Given the description of an element on the screen output the (x, y) to click on. 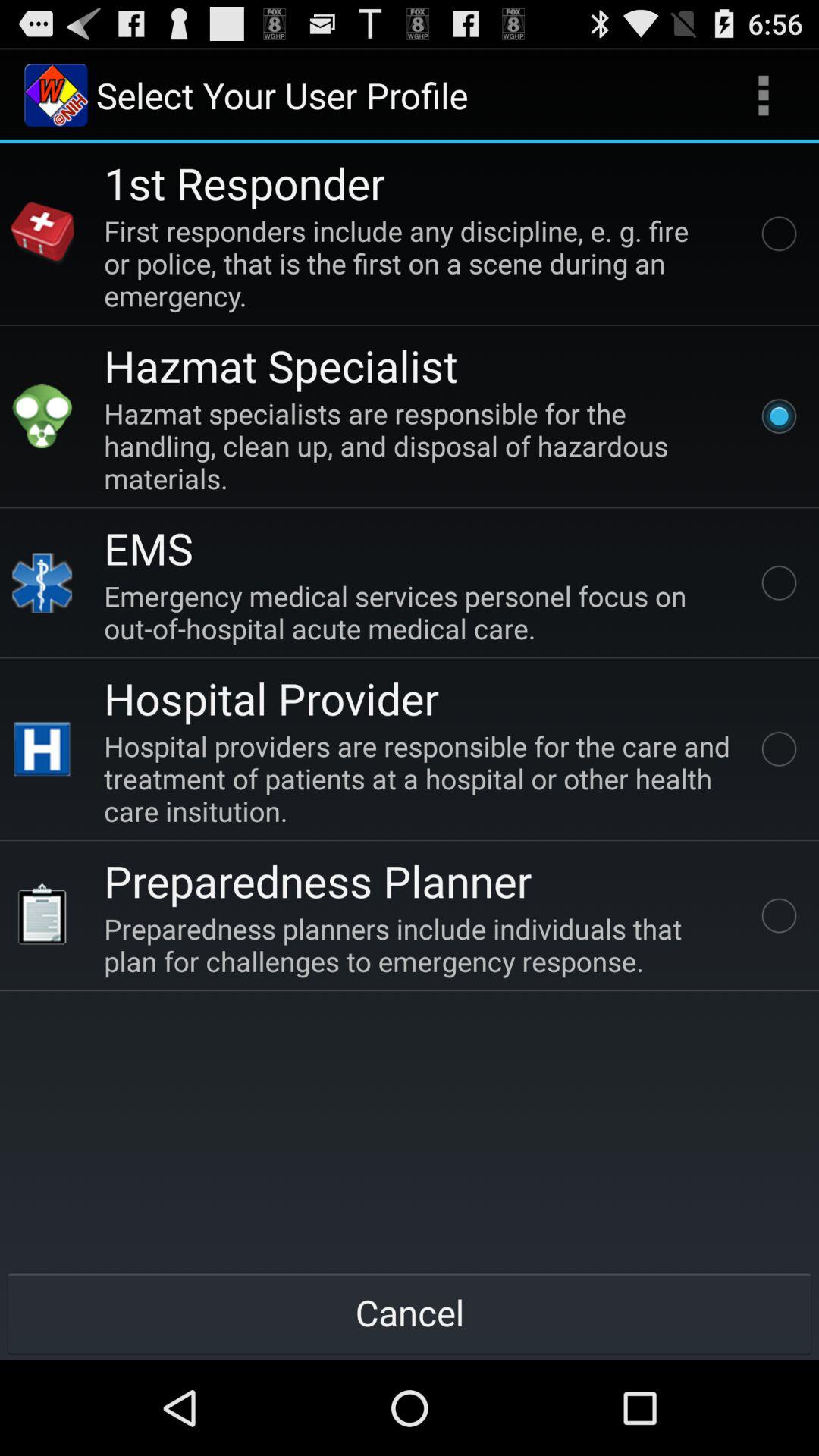
jump to cancel item (409, 1312)
